Given the description of an element on the screen output the (x, y) to click on. 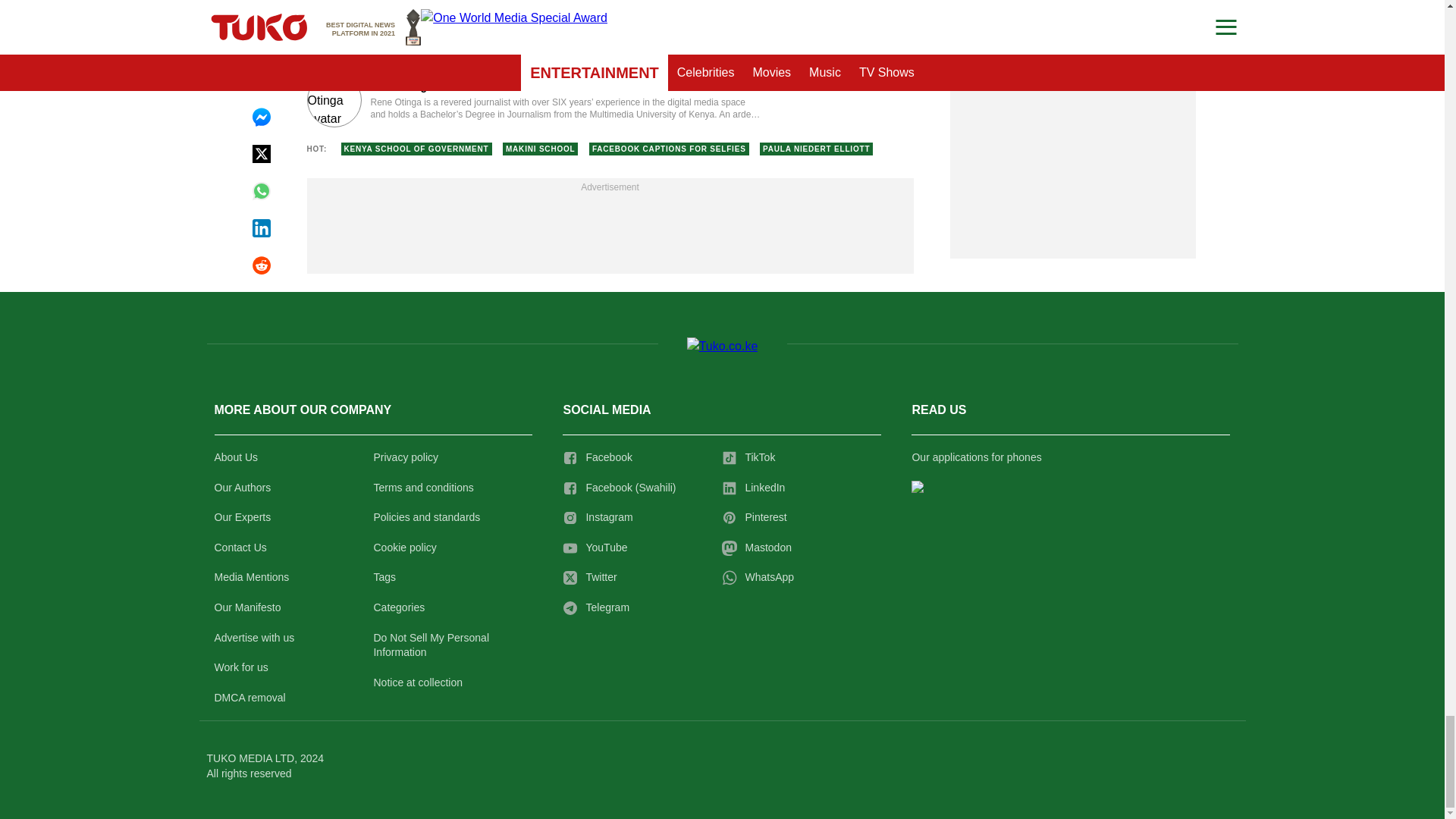
Author page (533, 99)
